Given the description of an element on the screen output the (x, y) to click on. 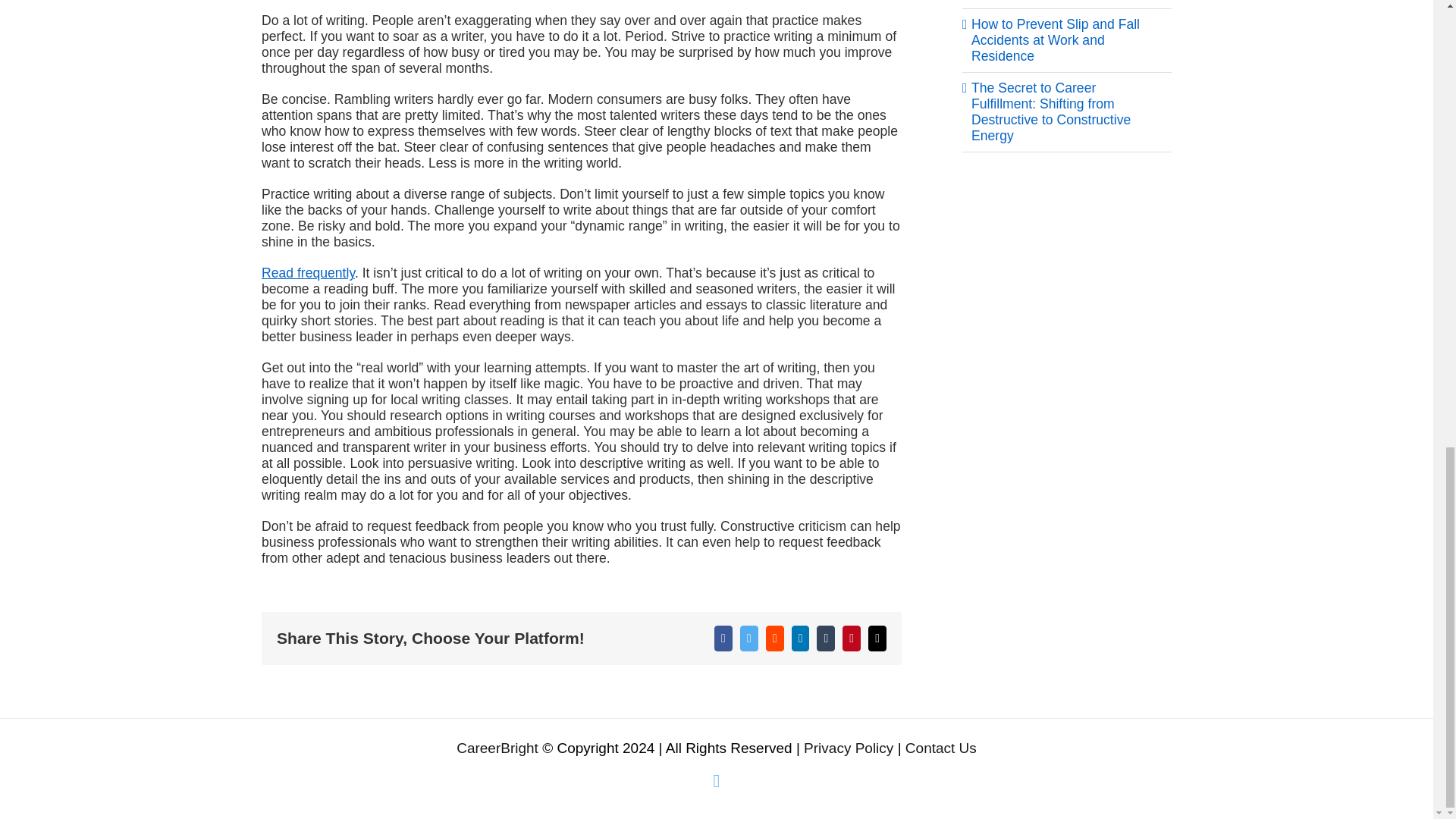
How to Prevent Slip and Fall Accidents at Work and Residence (1055, 39)
CareerBright (497, 747)
Privacy Policy (850, 747)
Read frequently (308, 272)
Contact Us (940, 747)
